Given the description of an element on the screen output the (x, y) to click on. 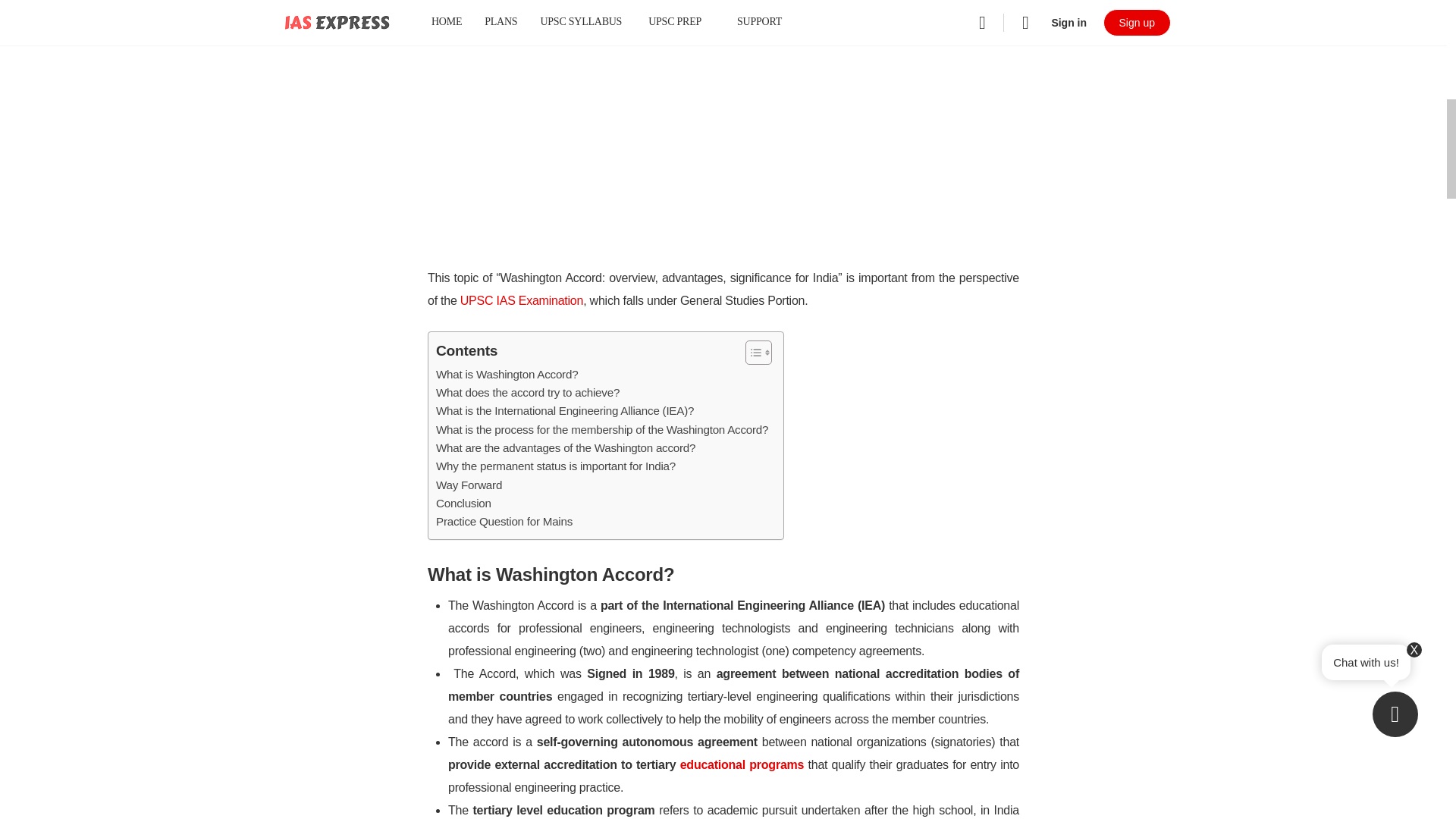
What are the advantages of the Washington accord? (565, 447)
Conclusion (463, 503)
What does the accord try to achieve? (527, 393)
Practice Question for Mains (503, 521)
Way Forward (468, 484)
Why the permanent status is important for India? (555, 466)
What is Washington Accord? (506, 374)
